Given the description of an element on the screen output the (x, y) to click on. 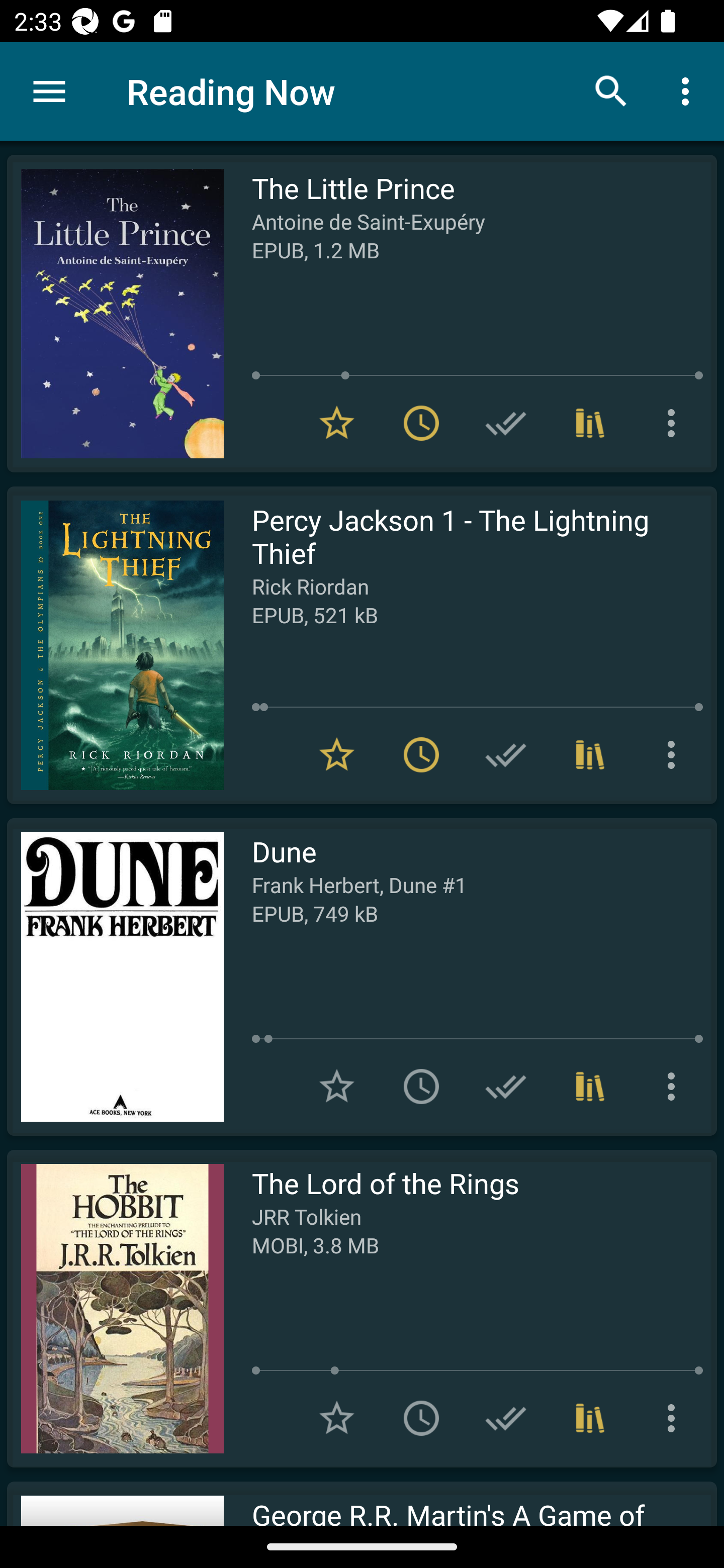
Menu (49, 91)
Search books & documents (611, 90)
More options (688, 90)
Read The Little Prince (115, 313)
Remove from Favorites (336, 423)
Remove from To read (421, 423)
Add to Have read (505, 423)
Collections (1) (590, 423)
More options (674, 423)
Read Percy Jackson 1 - The Lightning Thief (115, 645)
Remove from Favorites (336, 753)
Remove from To read (421, 753)
Add to Have read (505, 753)
Collections (1) (590, 753)
More options (674, 753)
Read Dune (115, 976)
Add to Favorites (336, 1086)
Add to To read (421, 1086)
Add to Have read (505, 1086)
Collections (1) (590, 1086)
More options (674, 1086)
Read The Lord of the Rings (115, 1308)
Add to Favorites (336, 1417)
Add to To read (421, 1417)
Add to Have read (505, 1417)
Collections (1) (590, 1417)
More options (674, 1417)
